Given the description of an element on the screen output the (x, y) to click on. 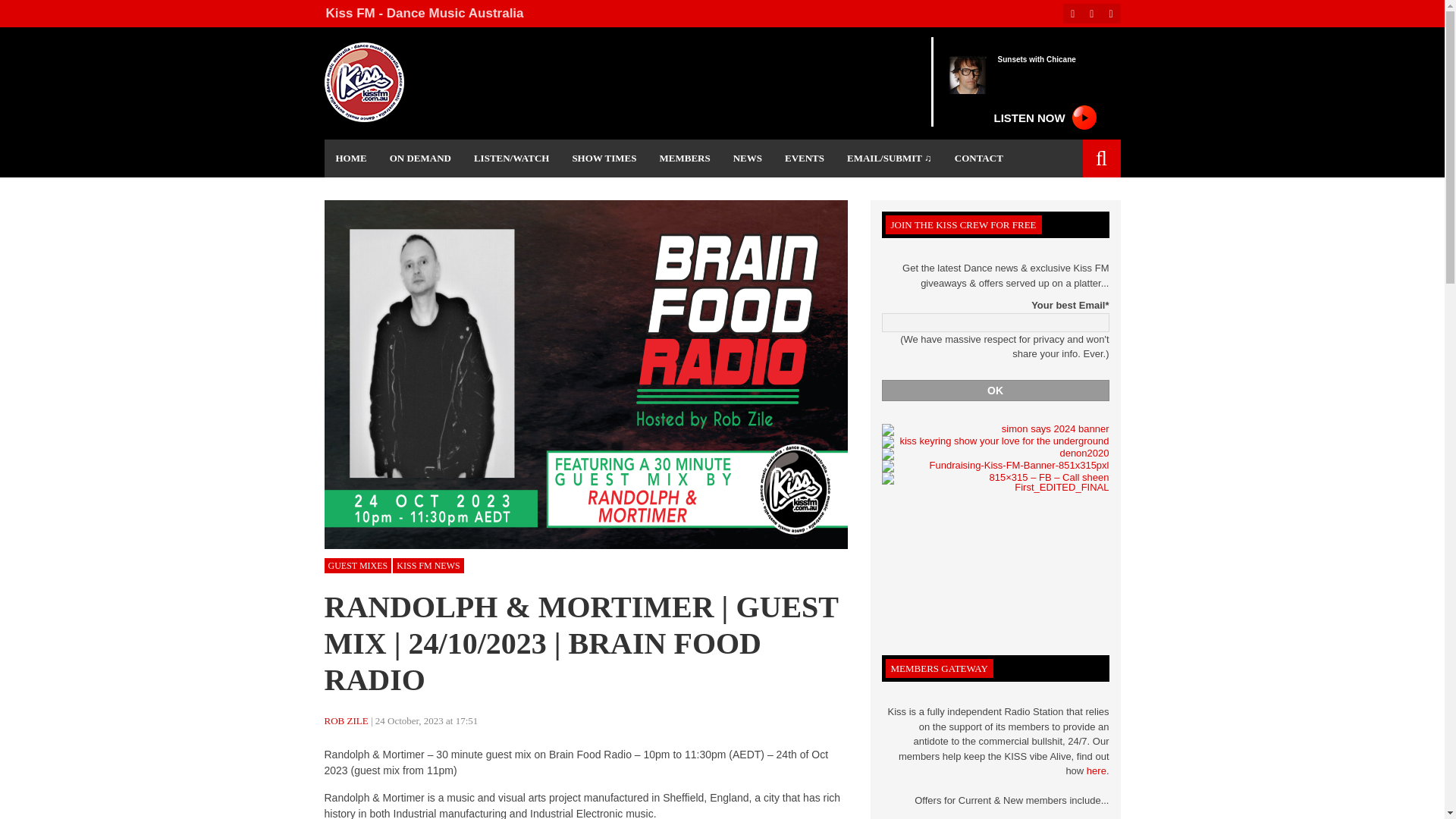
MEMBERS (684, 158)
ON DEMAND (420, 158)
View all posts in Kiss FM News (428, 565)
OK (994, 390)
Sunsets with Chicane (1036, 61)
HOME (351, 158)
EVENTS (804, 158)
NEWS (747, 158)
View all posts in Guest Mixes (357, 565)
SHOW TIMES (603, 158)
Posts by Rob Zile (346, 720)
LISTEN NOW (1042, 111)
CONTACT (978, 158)
